Given the description of an element on the screen output the (x, y) to click on. 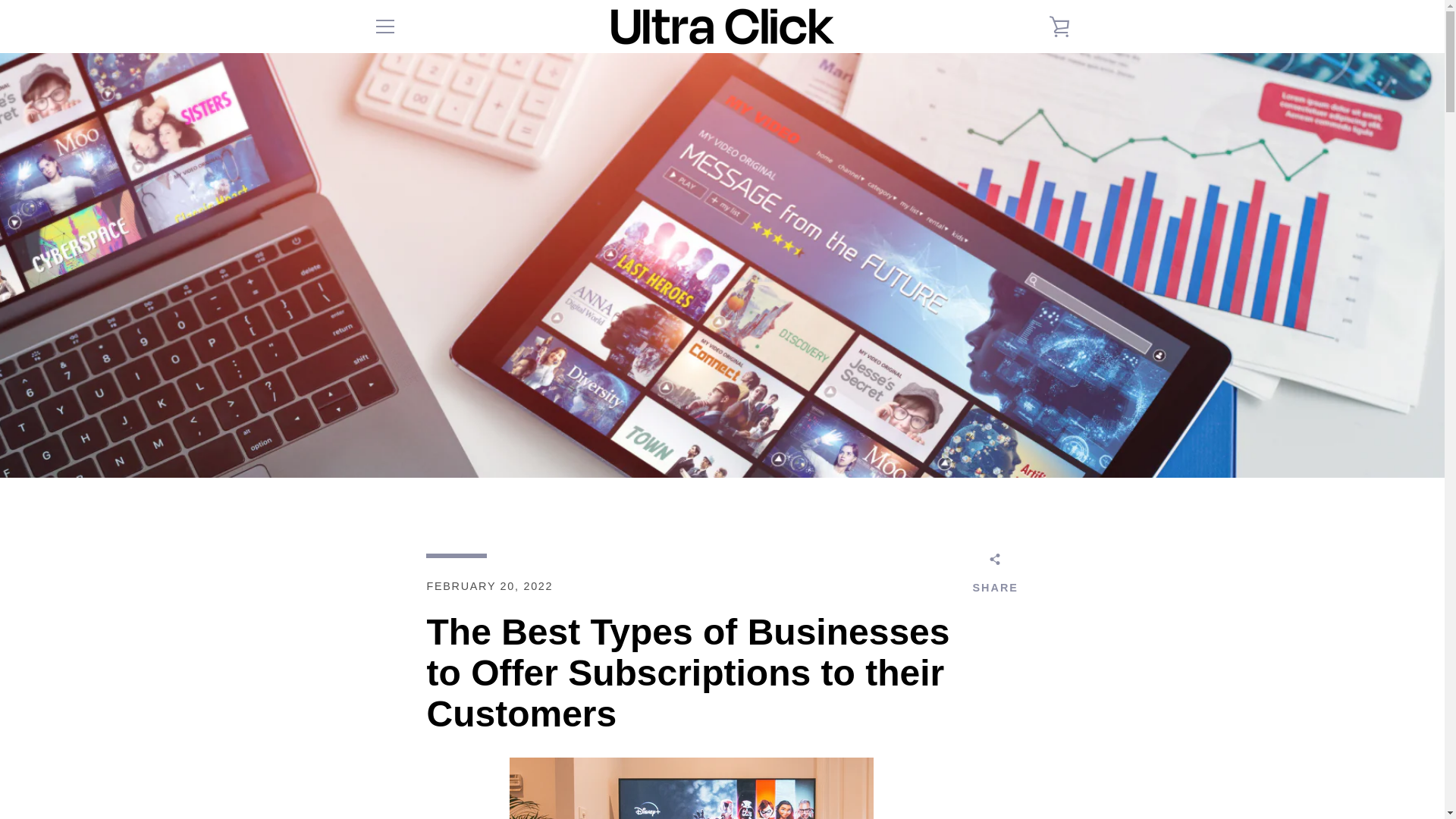
SHARE (994, 576)
VIEW CART (1059, 26)
MENU (384, 26)
